Given the description of an element on the screen output the (x, y) to click on. 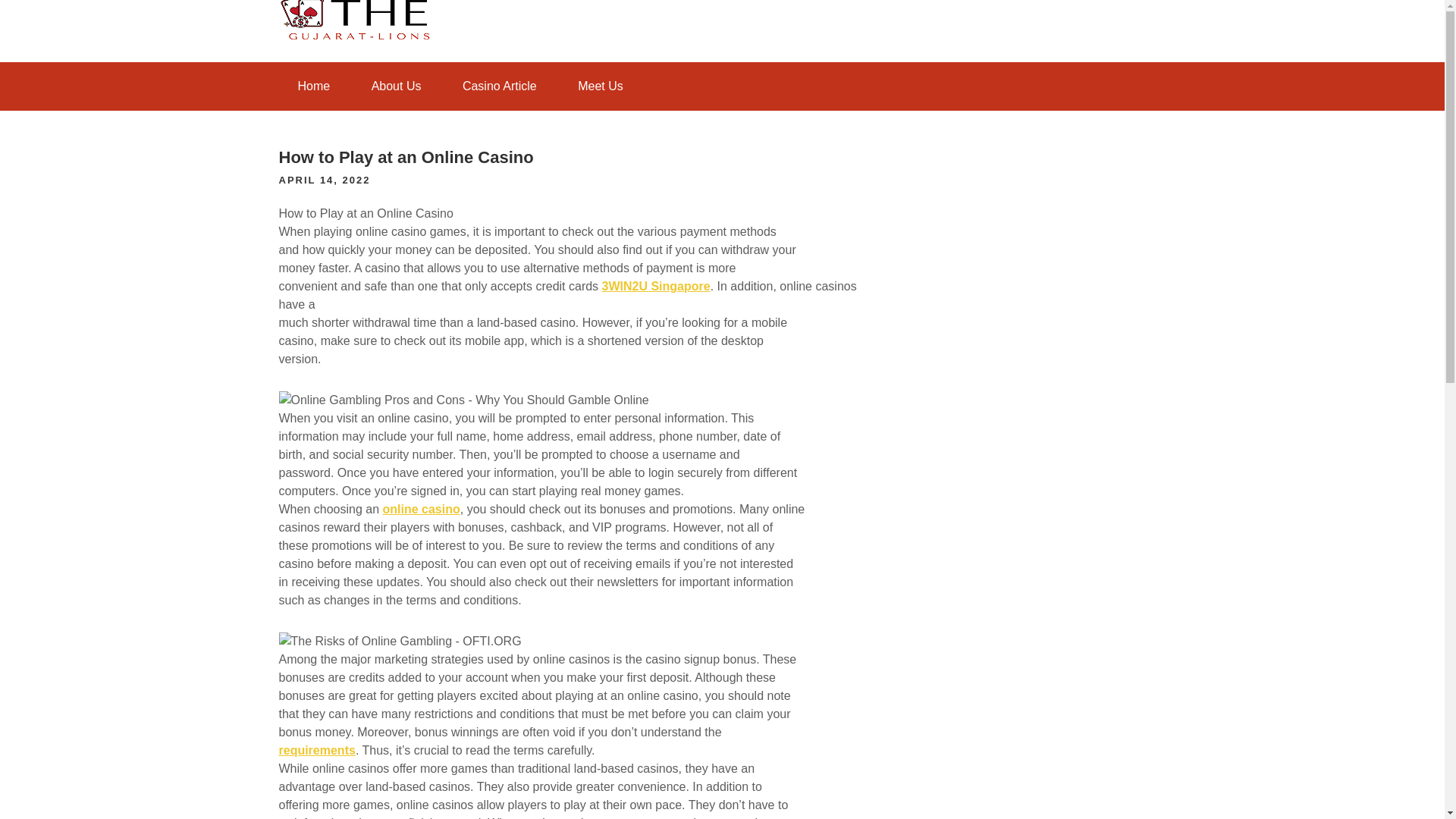
Meet Us (600, 86)
The Gujarat Lions (326, 91)
Casino Article (500, 86)
requirements (317, 749)
About Us (396, 86)
online casino (420, 508)
Home (314, 86)
3WIN2U Singapore (656, 286)
